Given the description of an element on the screen output the (x, y) to click on. 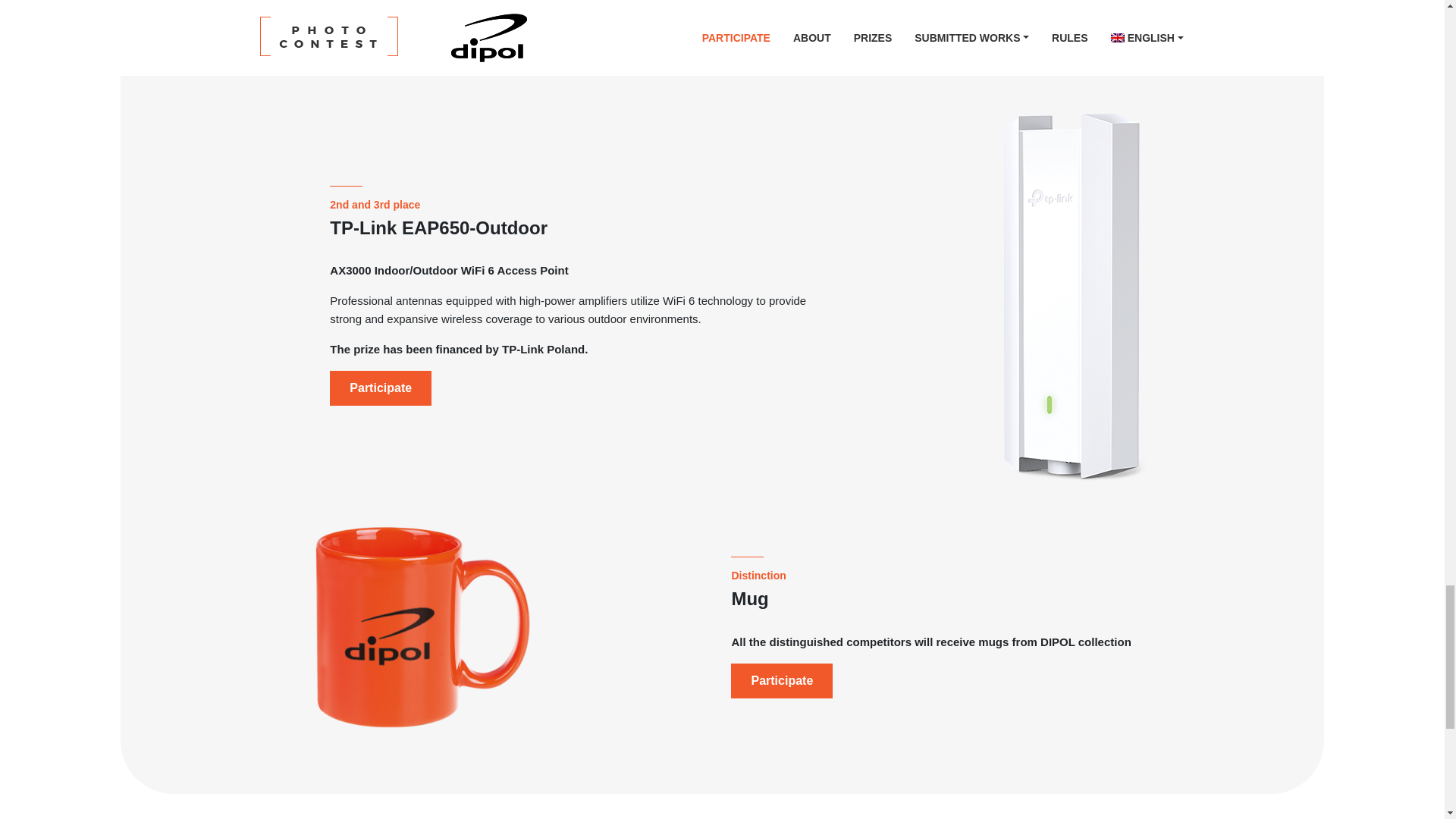
Participate (380, 388)
Participate (781, 680)
Participate (781, 9)
